Given the description of an element on the screen output the (x, y) to click on. 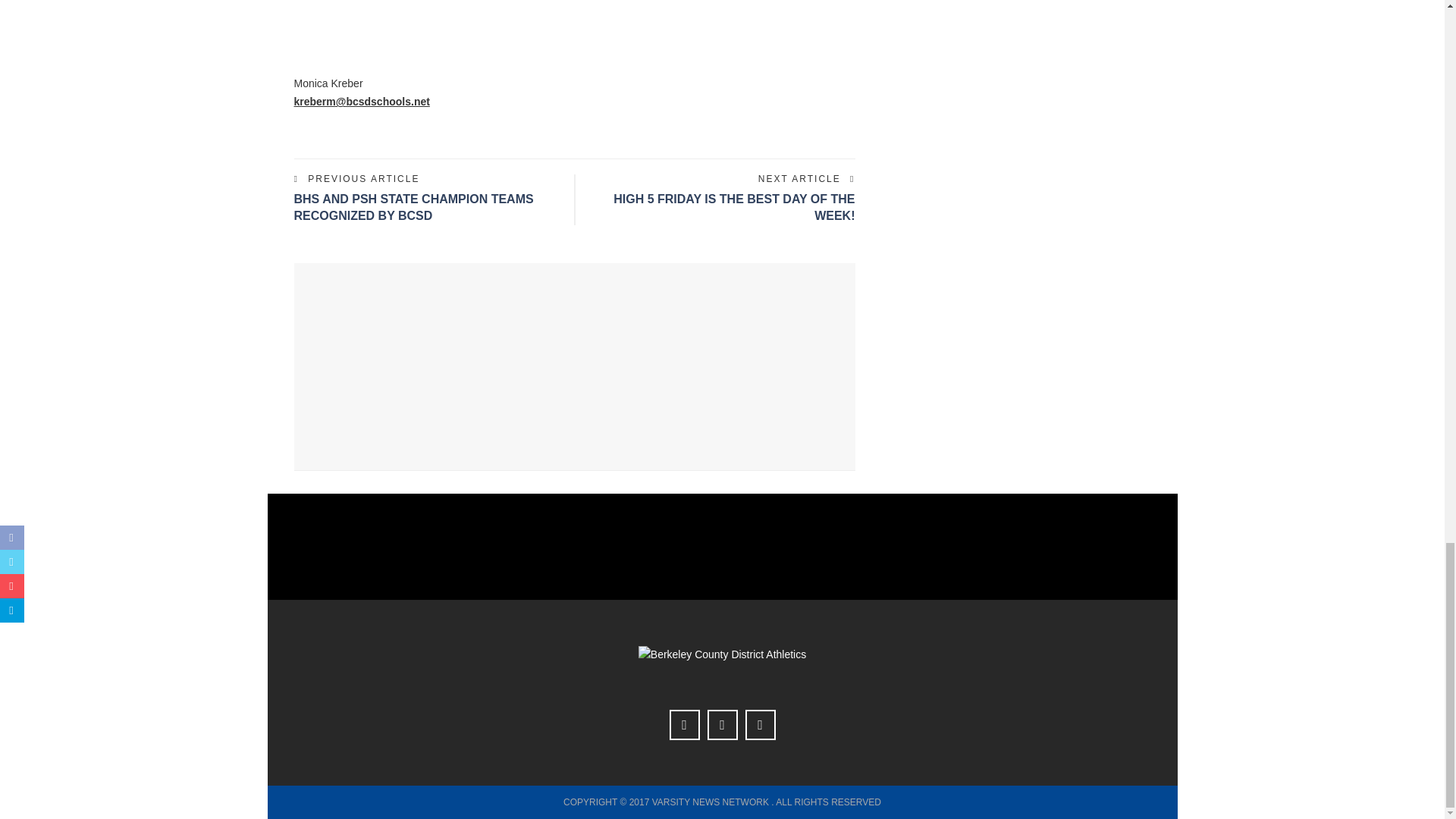
High 5 Friday is the best day of the week! (733, 206)
BHS and PSH state champion teams recognized by BCSD (414, 206)
